Given the description of an element on the screen output the (x, y) to click on. 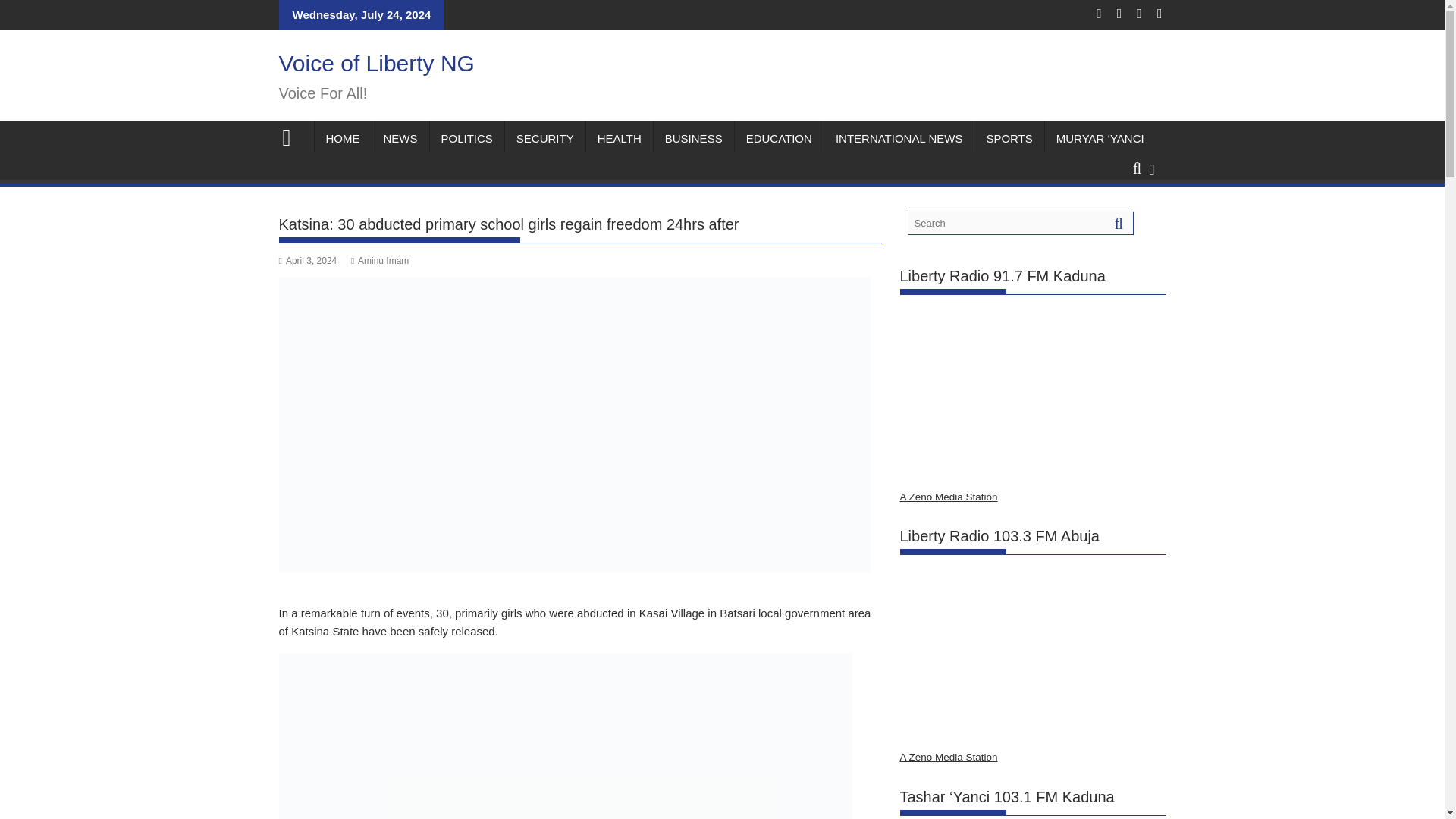
SPORTS (1008, 138)
Voice of Liberty NG (293, 136)
INTERNATIONAL NEWS (899, 138)
HEALTH (619, 138)
April 3, 2024 (308, 260)
POLITICS (466, 138)
BUSINESS (693, 138)
Aminu Imam (379, 260)
NEWS (399, 138)
EDUCATION (779, 138)
SECURITY (545, 138)
HOME (342, 138)
Voice of Liberty NG (376, 63)
